Given the description of an element on the screen output the (x, y) to click on. 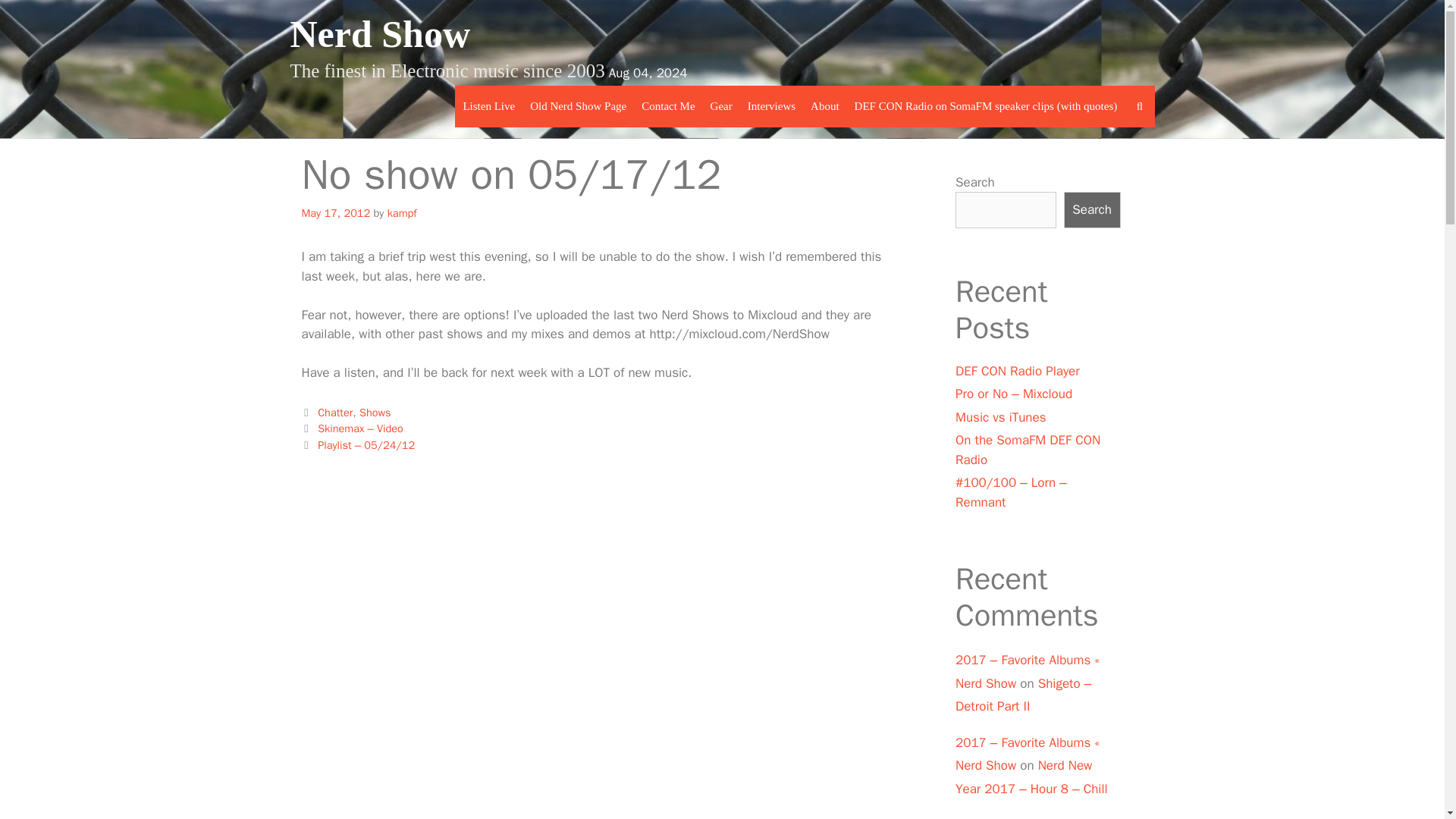
On the SomaFM DEF CON Radio (1027, 449)
Search (349, 20)
Gear (721, 105)
About (825, 105)
Dario (970, 818)
Nerd Show (379, 34)
Next (357, 445)
May 17, 2012 (336, 213)
Music vs iTunes (1000, 417)
DEF CON Radio Player (1017, 370)
Interviews (771, 105)
Previous (352, 427)
Contact Me (667, 105)
Old Nerd Show Page (577, 105)
Search (1092, 209)
